Given the description of an element on the screen output the (x, y) to click on. 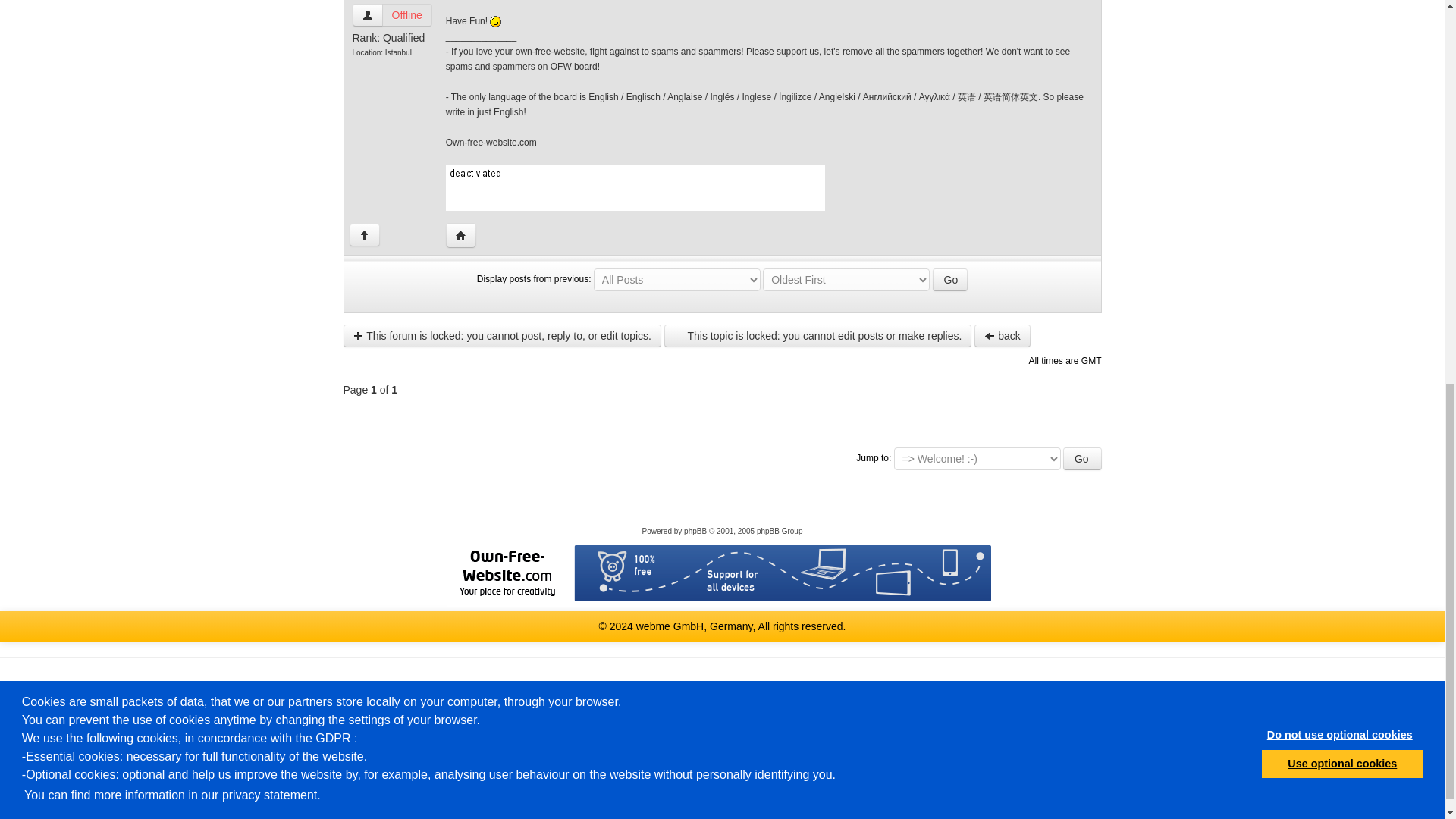
Visit poster's website: canerfc (460, 235)
Go (950, 279)
Visit poster's website (460, 235)
Go (950, 279)
Go  (1082, 458)
phpBB (695, 531)
English (584, 686)
This topic is locked: you cannot edit posts or make replies. (817, 335)
